Given the description of an element on the screen output the (x, y) to click on. 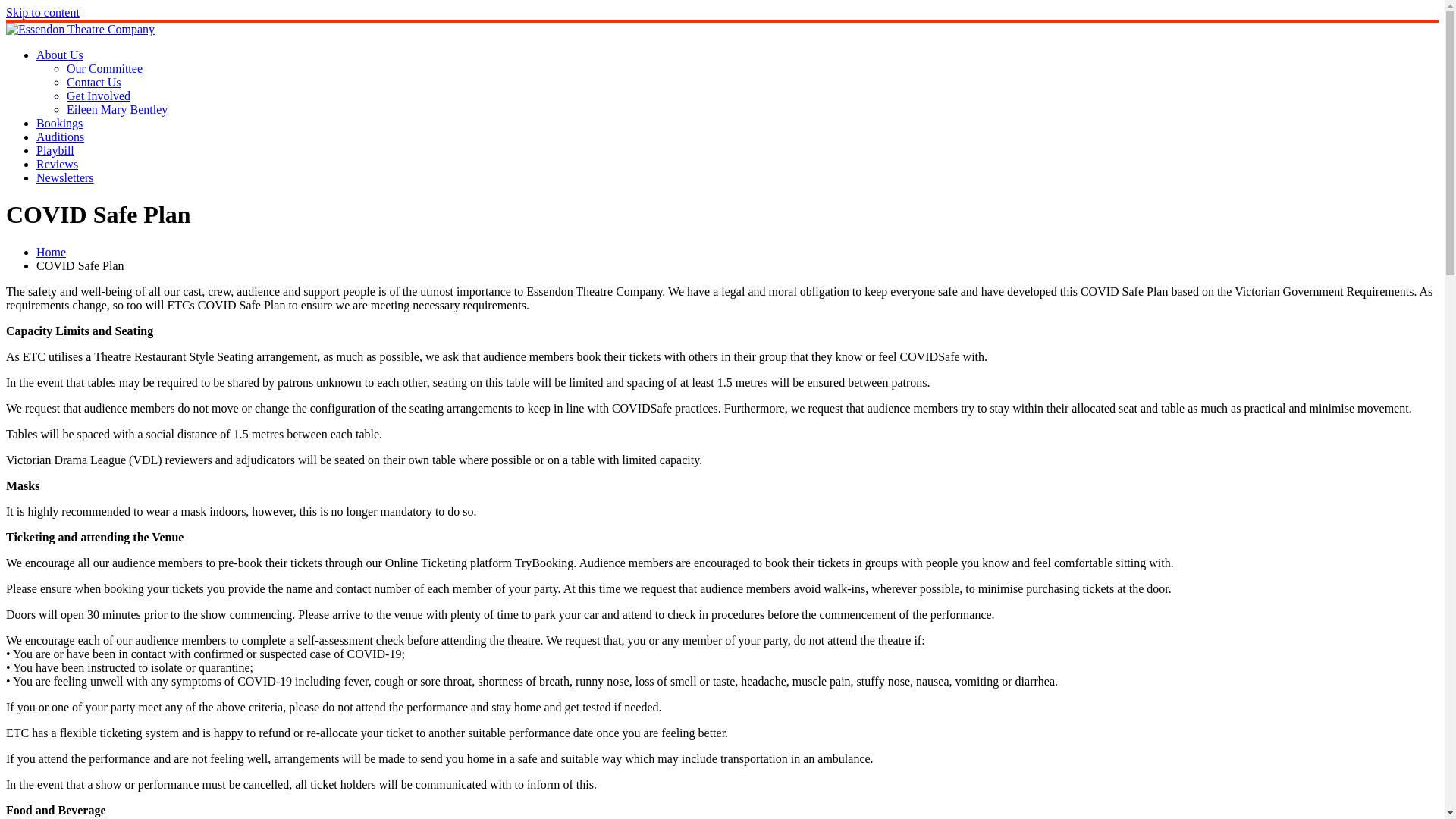
Newsletters Element type: text (65, 177)
Bookings Element type: text (59, 122)
Playbill Element type: text (55, 150)
Skip to content Element type: text (42, 12)
Reviews Element type: text (57, 163)
Auditions Element type: text (60, 136)
Contact Us Element type: text (93, 81)
Home Element type: text (50, 251)
Our Committee Element type: text (104, 68)
Get Involved Element type: text (98, 95)
Eileen Mary Bentley Element type: text (116, 109)
About Us Element type: text (59, 54)
